Given the description of an element on the screen output the (x, y) to click on. 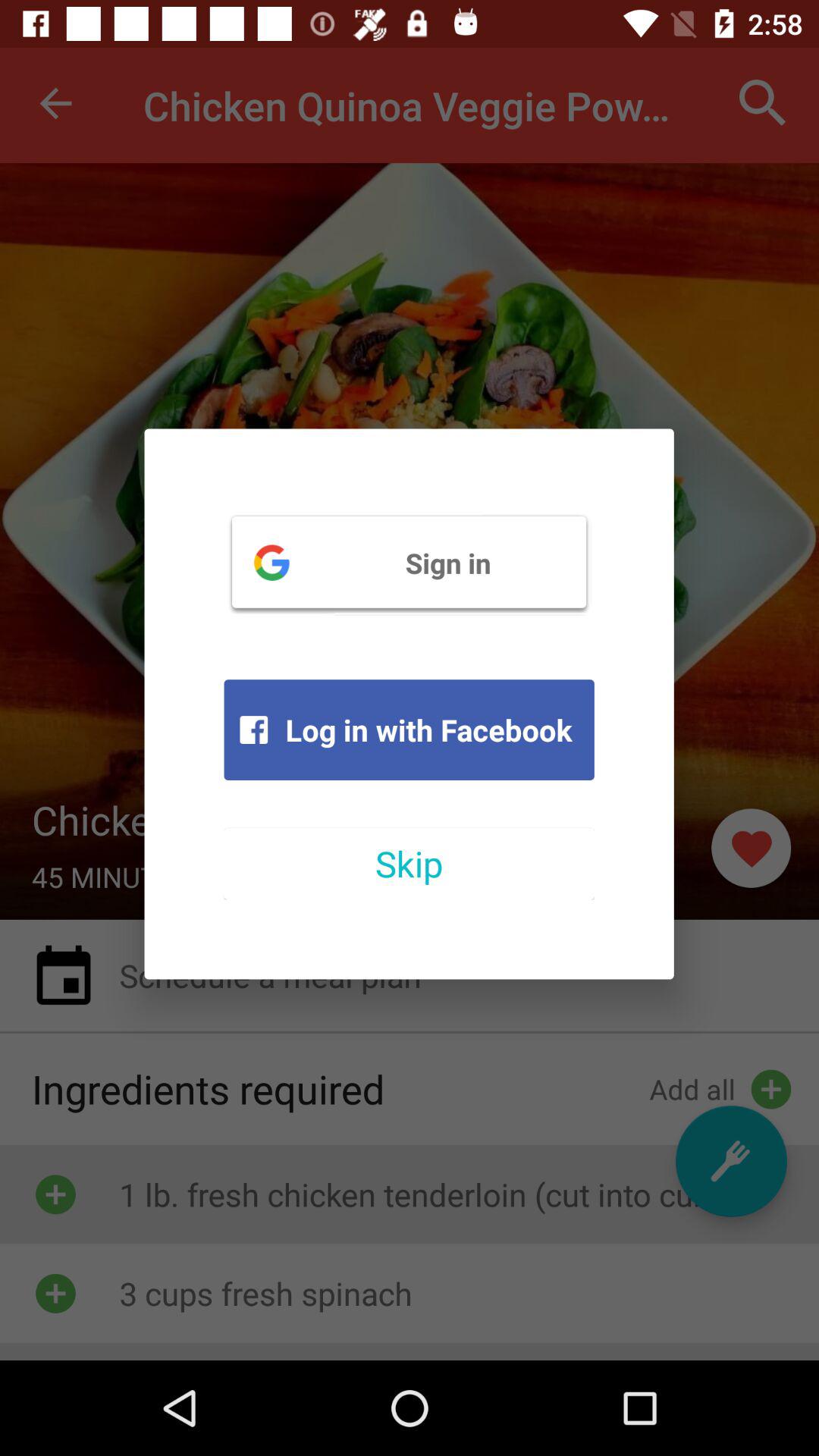
select the log in with item (409, 729)
